Given the description of an element on the screen output the (x, y) to click on. 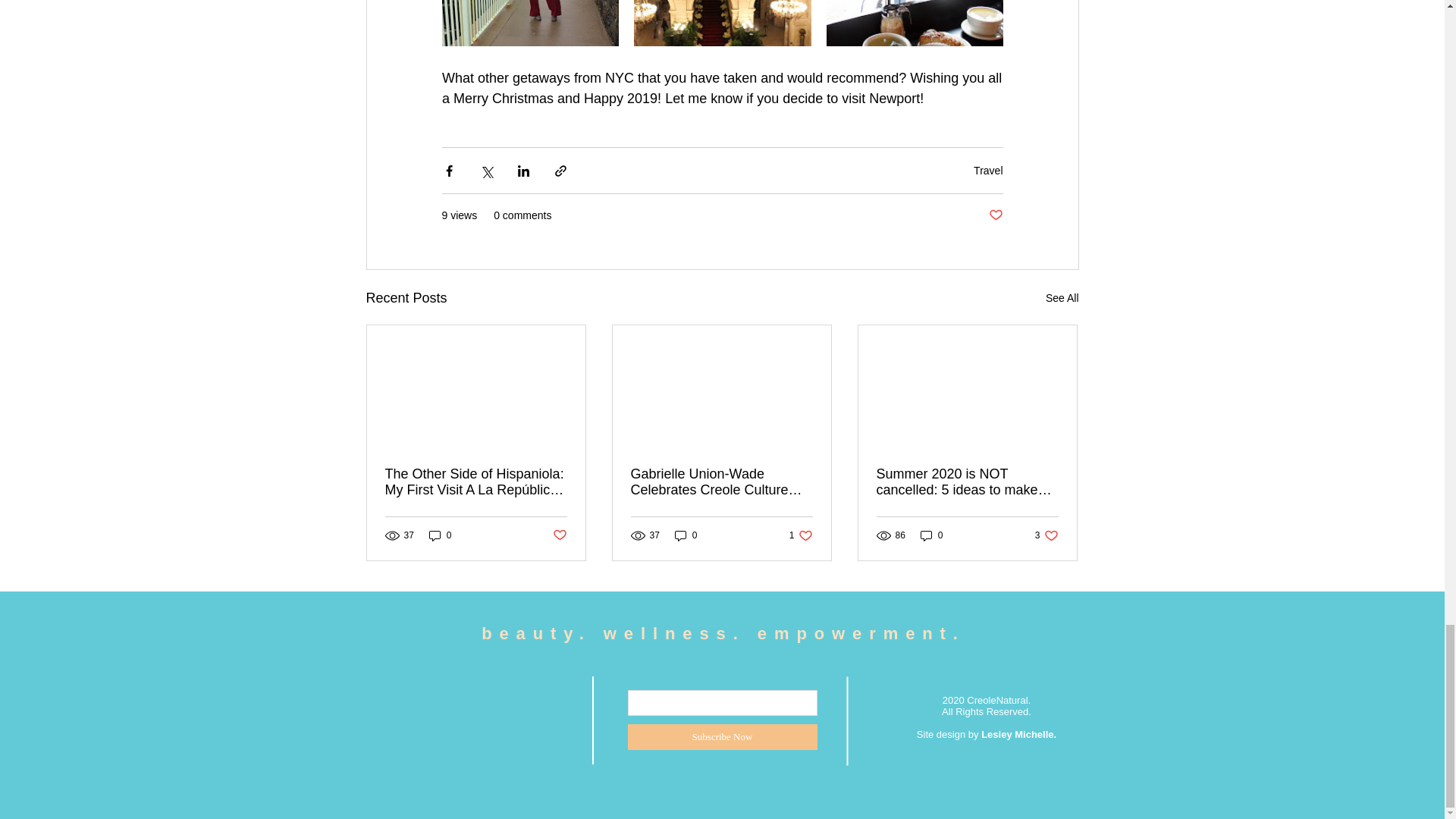
See All (1061, 298)
0 (931, 535)
Post not marked as liked (995, 215)
0 (440, 535)
Post not marked as liked (800, 535)
0 (558, 535)
Travel (685, 535)
